Given the description of an element on the screen output the (x, y) to click on. 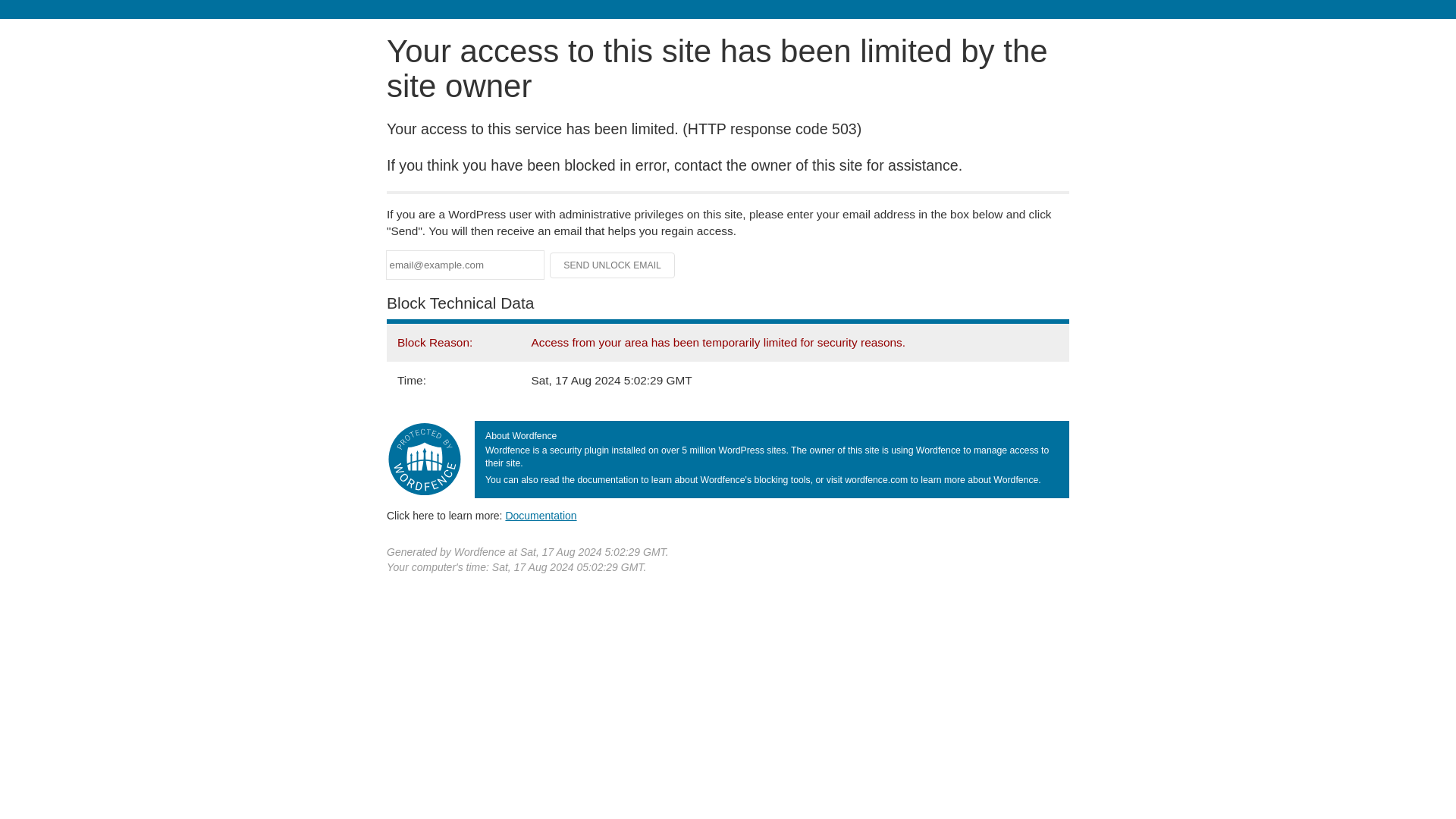
Send Unlock Email (612, 265)
Documentation (540, 515)
Send Unlock Email (612, 265)
